Given the description of an element on the screen output the (x, y) to click on. 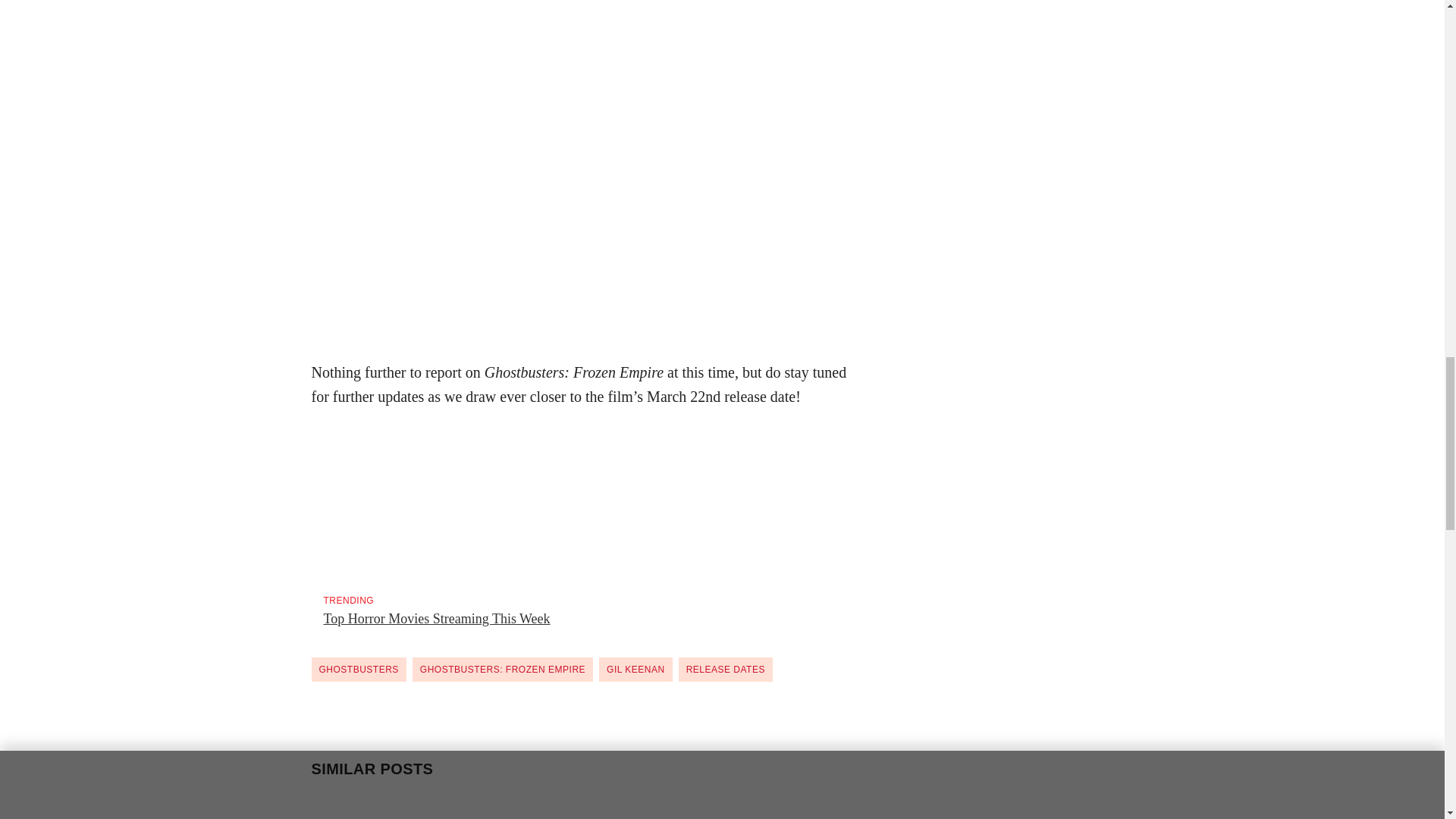
GIL KEENAN (635, 669)
ghostbusters (358, 669)
ghostbusters: frozen empire (502, 669)
Top Horror Movies Streaming This Week (436, 618)
gil keenan (635, 669)
Release Dates (725, 669)
RELEASE DATES (725, 669)
GHOSTBUSTERS: FROZEN EMPIRE (502, 669)
GHOSTBUSTERS (358, 669)
